Given the description of an element on the screen output the (x, y) to click on. 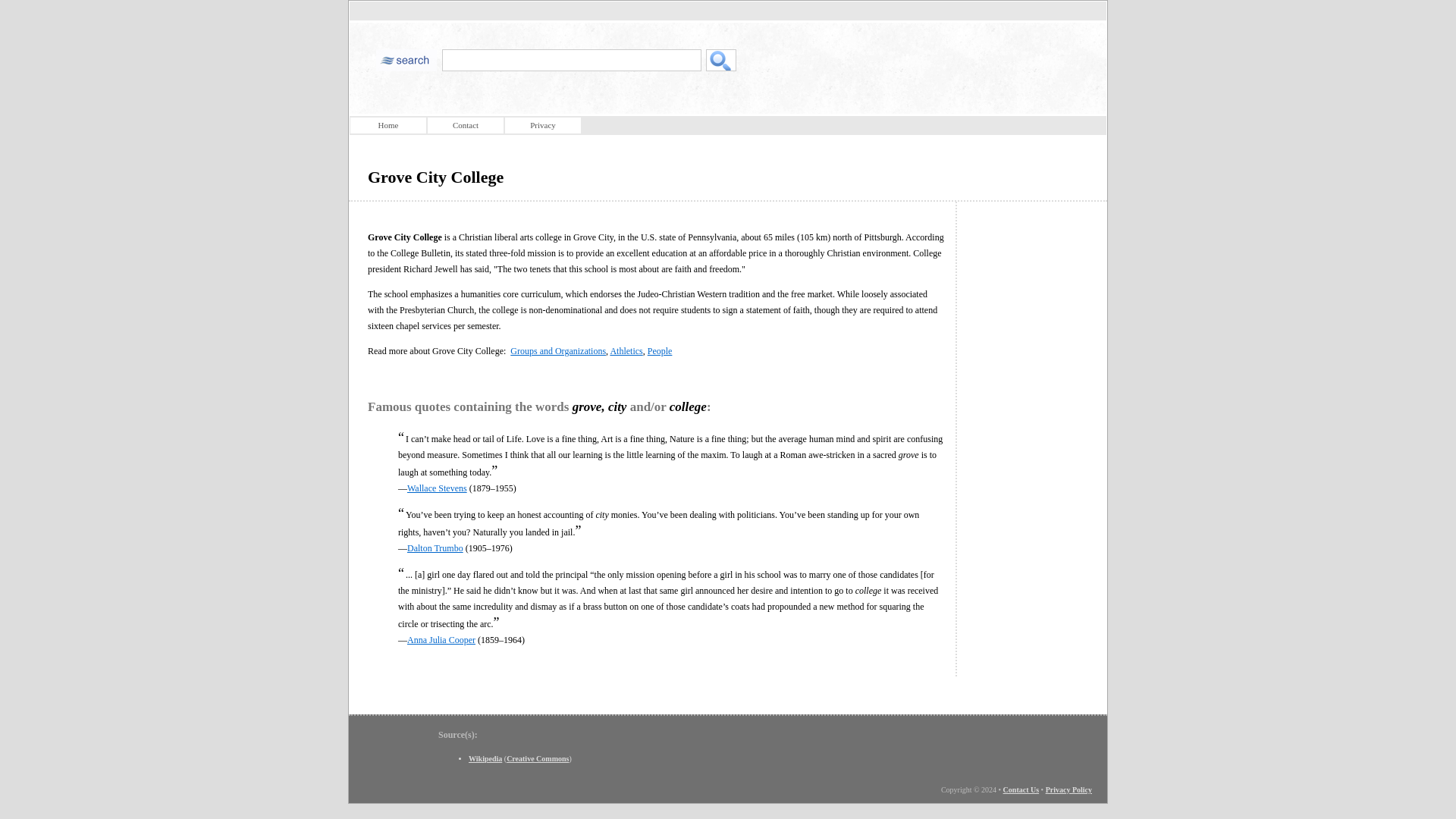
Athletics (626, 350)
Wallace Stevens (437, 488)
Privacy Policy (1068, 789)
Contact (465, 125)
Privacy (542, 125)
Groups and Organizations (558, 350)
Who is Dalton Trumbo? (435, 547)
Who is Anna Julia Cooper? (441, 639)
Who is Wallace Stevens? (437, 488)
Dalton Trumbo (435, 547)
